Given the description of an element on the screen output the (x, y) to click on. 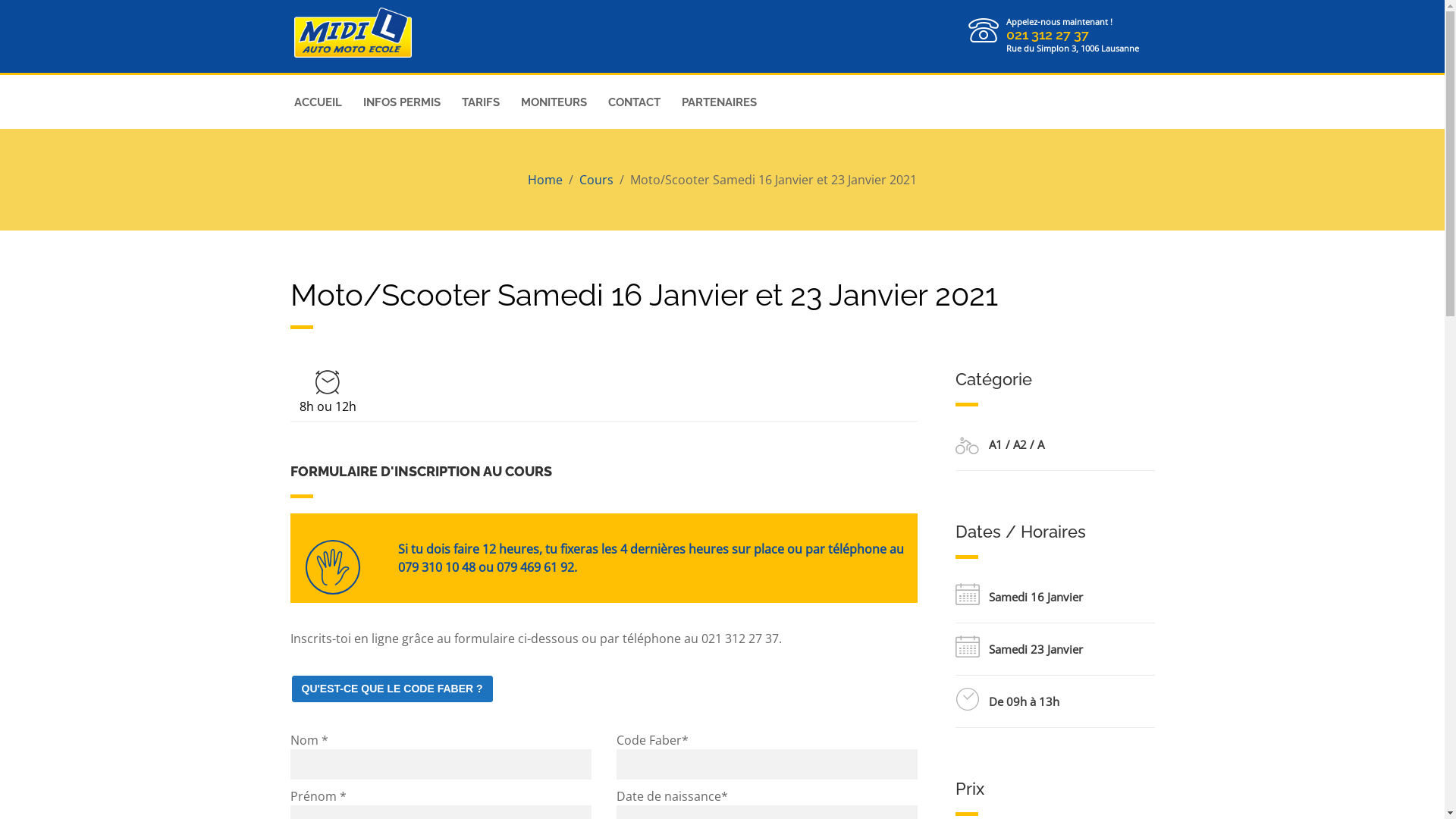
CONTACT Element type: text (634, 102)
TARIFS Element type: text (479, 102)
INFOS PERMIS Element type: text (400, 102)
QU'EST-CE QUE LE CODE FABER ? Element type: text (391, 688)
Home Element type: text (544, 179)
MONITEURS Element type: text (552, 102)
Cours Element type: text (596, 179)
PARTENAIRES Element type: text (718, 102)
ACCUEIL Element type: text (317, 102)
